Given the description of an element on the screen output the (x, y) to click on. 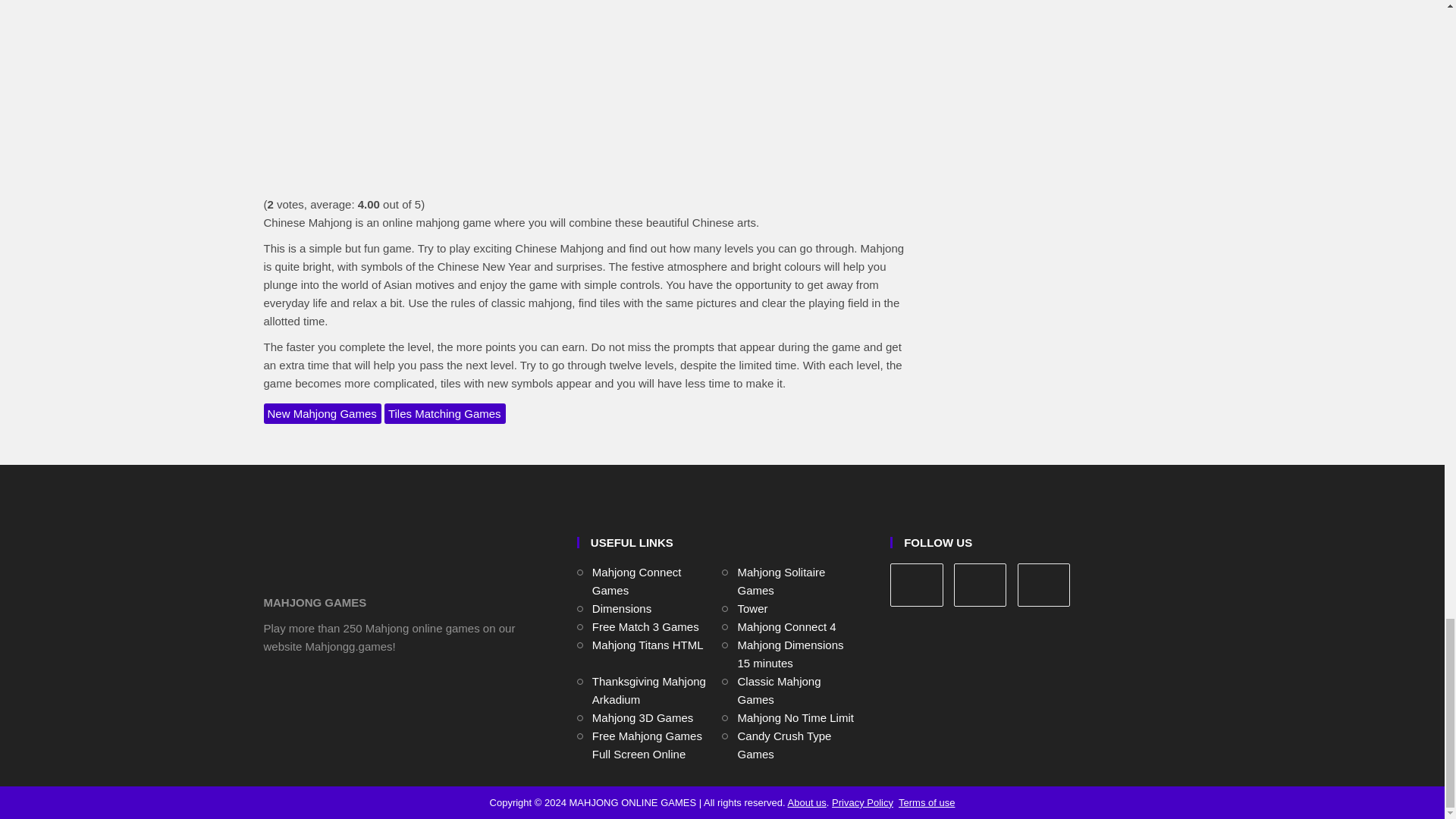
New Mahjong Games (322, 413)
Free Match 3 Games (645, 626)
Mahjong Connect Games (636, 581)
Dimensions (621, 608)
Mahjong Connect 4 (785, 626)
Tower (751, 608)
Tiles Matching Games (444, 413)
Mahjong Solitaire Games (780, 581)
Mahjong Titans HTML (647, 644)
Mahjong Dimensions 15 minutes (789, 653)
